Given the description of an element on the screen output the (x, y) to click on. 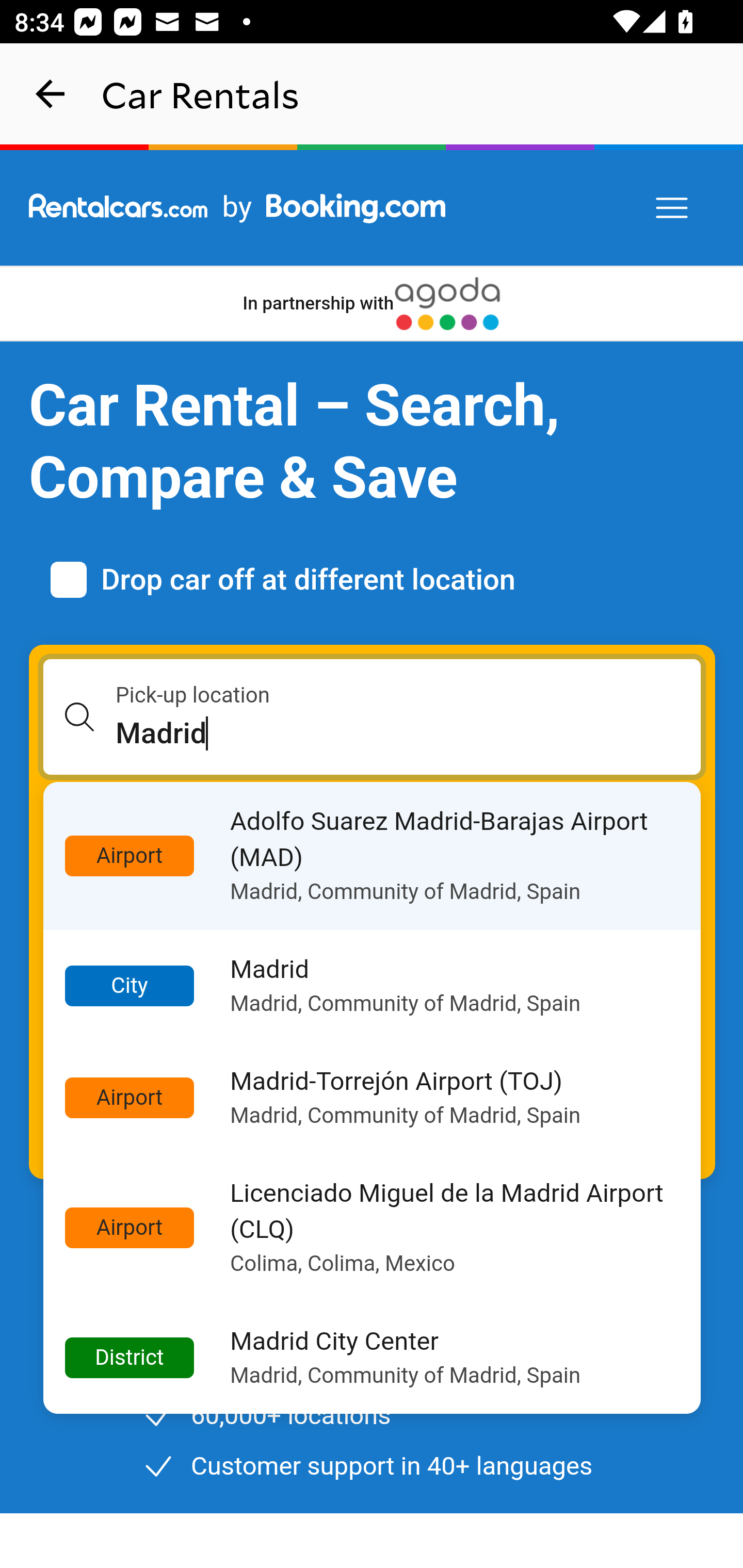
navigation_button (50, 93)
Menu (672, 208)
Pick-up location Madrid (372, 717)
Madrid (408, 733)
City Madrid Madrid, Community of Madrid, Spain (372, 985)
